Given the description of an element on the screen output the (x, y) to click on. 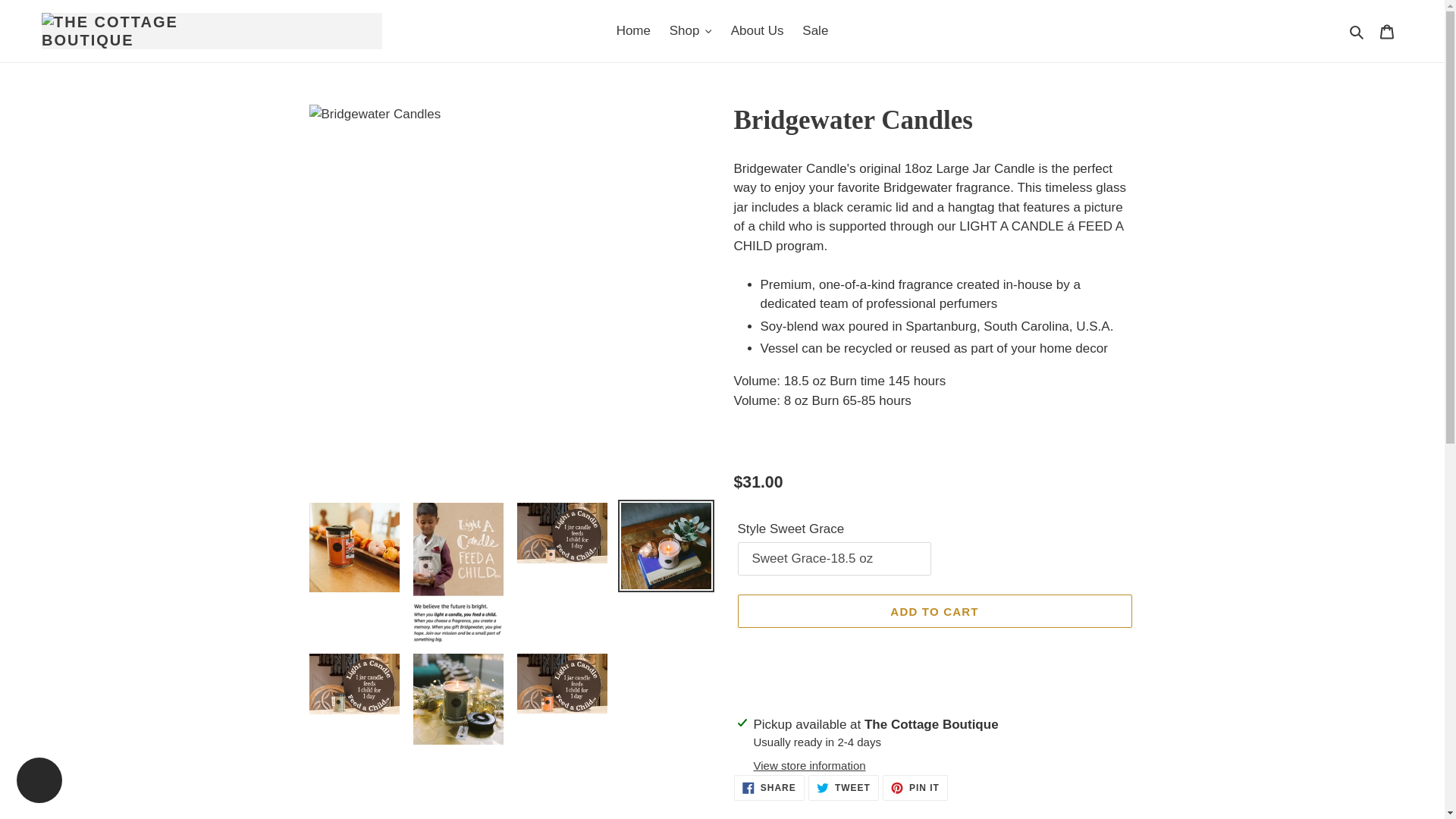
Cart (1387, 30)
Shopify online store chat (38, 781)
Sale (814, 30)
About Us (757, 30)
Shop (690, 30)
Home (633, 30)
Search (1357, 30)
